Given the description of an element on the screen output the (x, y) to click on. 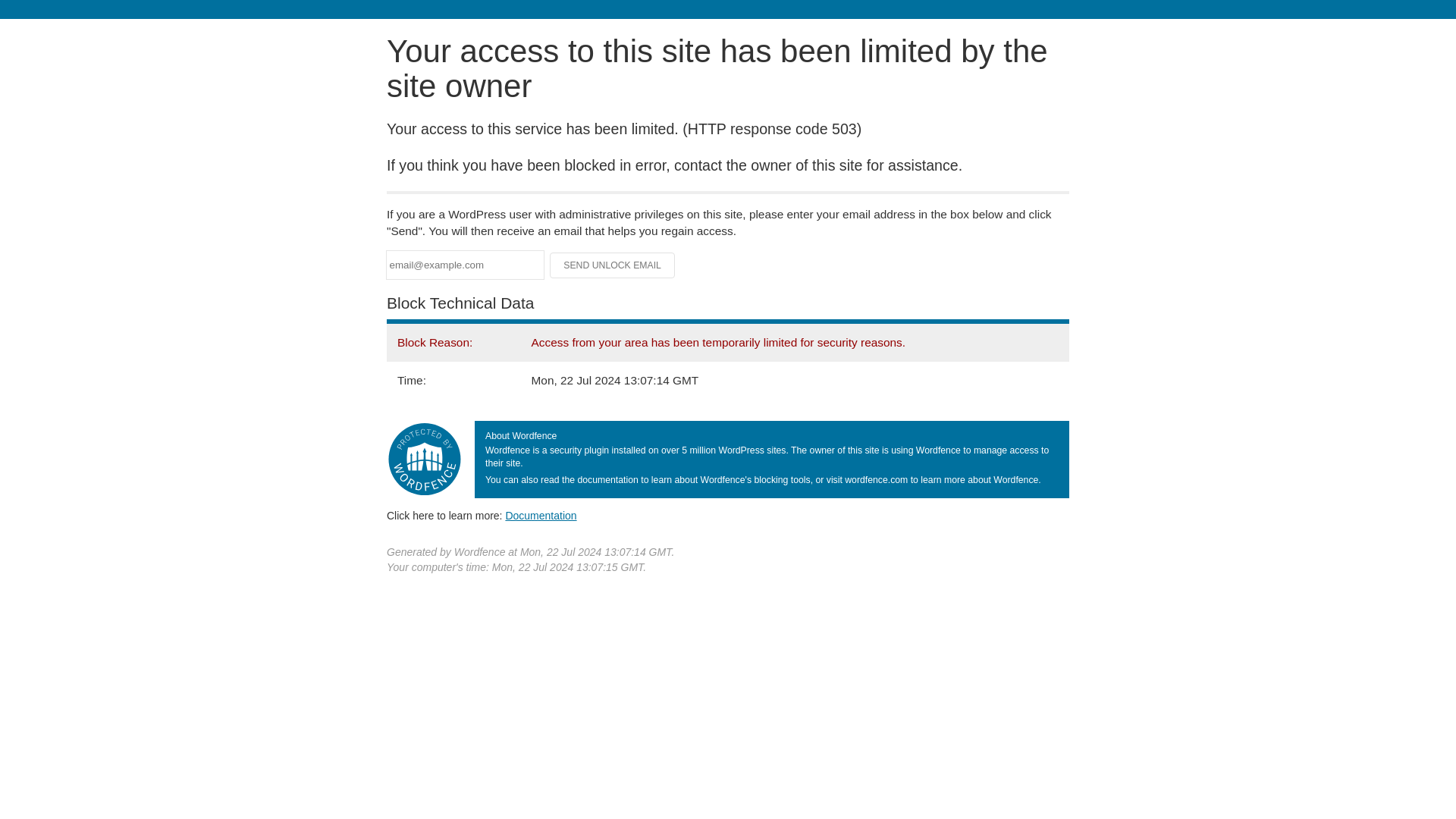
Send Unlock Email (612, 265)
Send Unlock Email (612, 265)
Documentation (540, 515)
